Given the description of an element on the screen output the (x, y) to click on. 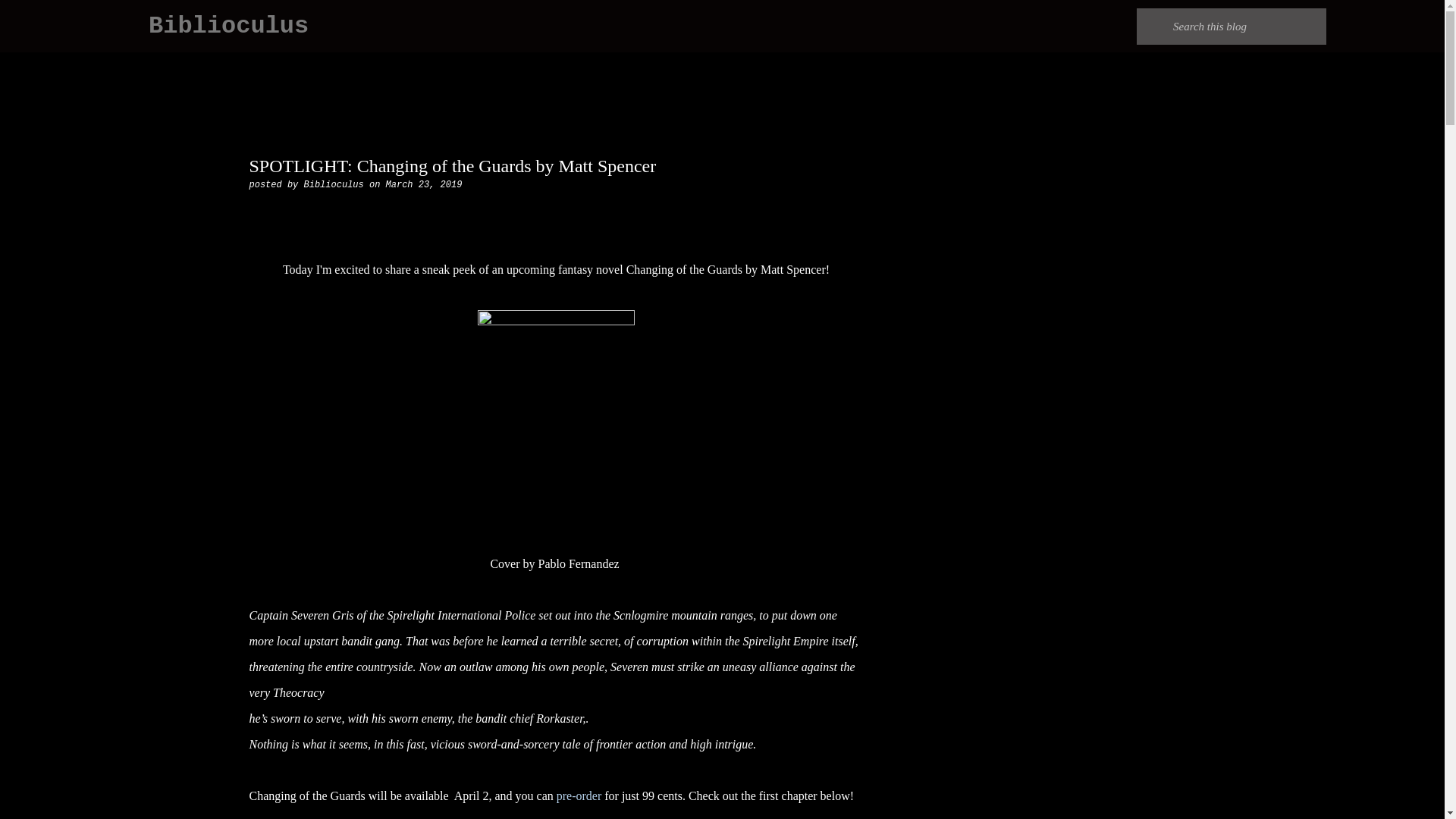
permanent link (424, 184)
Biblioculus (336, 184)
author profile (336, 184)
Biblioculus (228, 26)
March 23, 2019 (424, 184)
pre-order (579, 795)
